Given the description of an element on the screen output the (x, y) to click on. 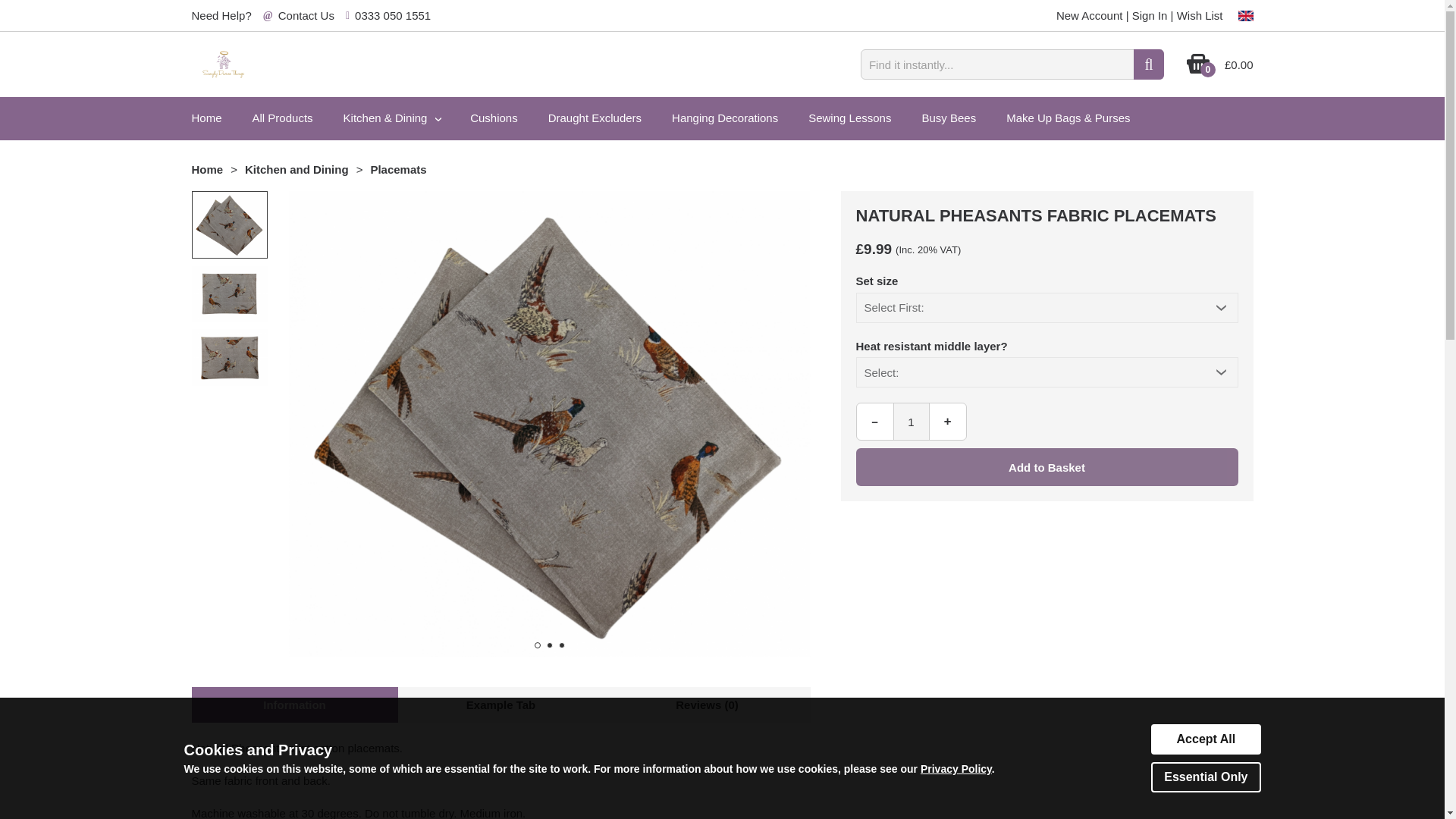
Sewing Lessons (849, 117)
New Account (1089, 15)
Hanging Decorations (724, 117)
0 (1197, 69)
Add to Basket (1046, 466)
Home (206, 169)
1 (911, 421)
Home (205, 117)
All Products (283, 117)
Busy Bees (948, 117)
Placemats (397, 169)
0333 050 1551 (392, 15)
Go (1148, 64)
Cushions (493, 117)
Draught Excluders (594, 117)
